Given the description of an element on the screen output the (x, y) to click on. 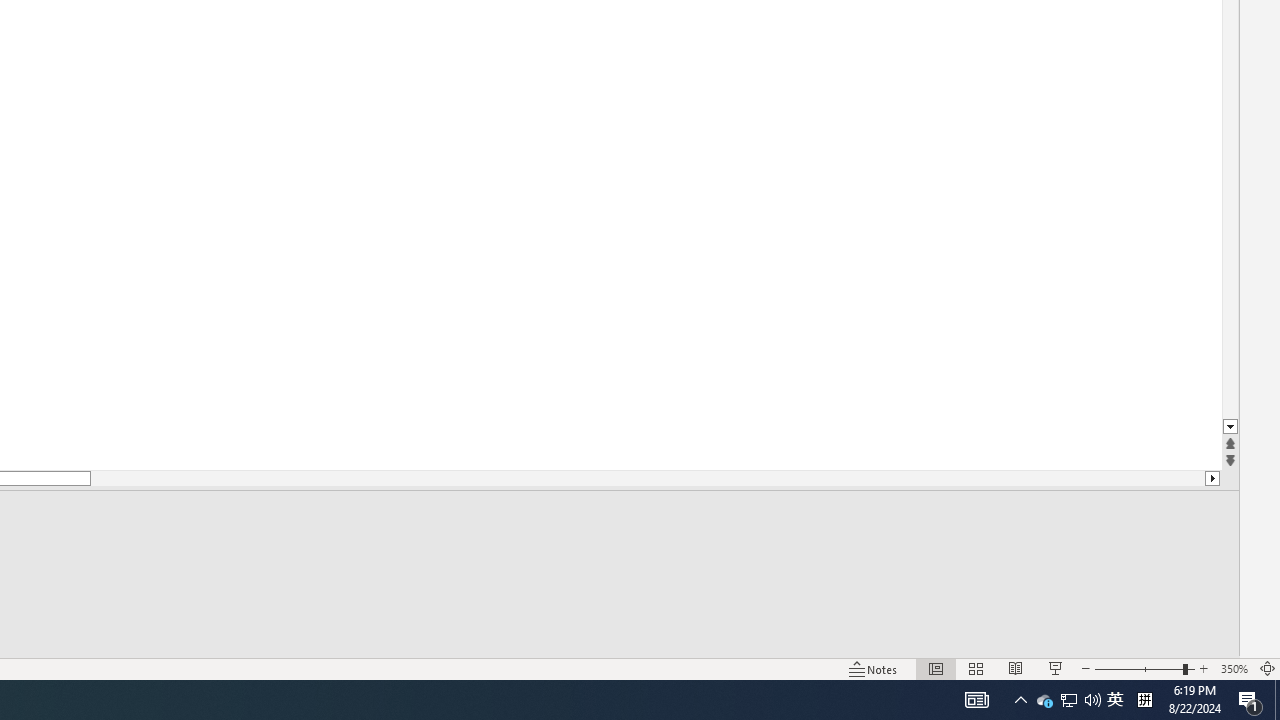
Zoom 350% (1234, 668)
